Given the description of an element on the screen output the (x, y) to click on. 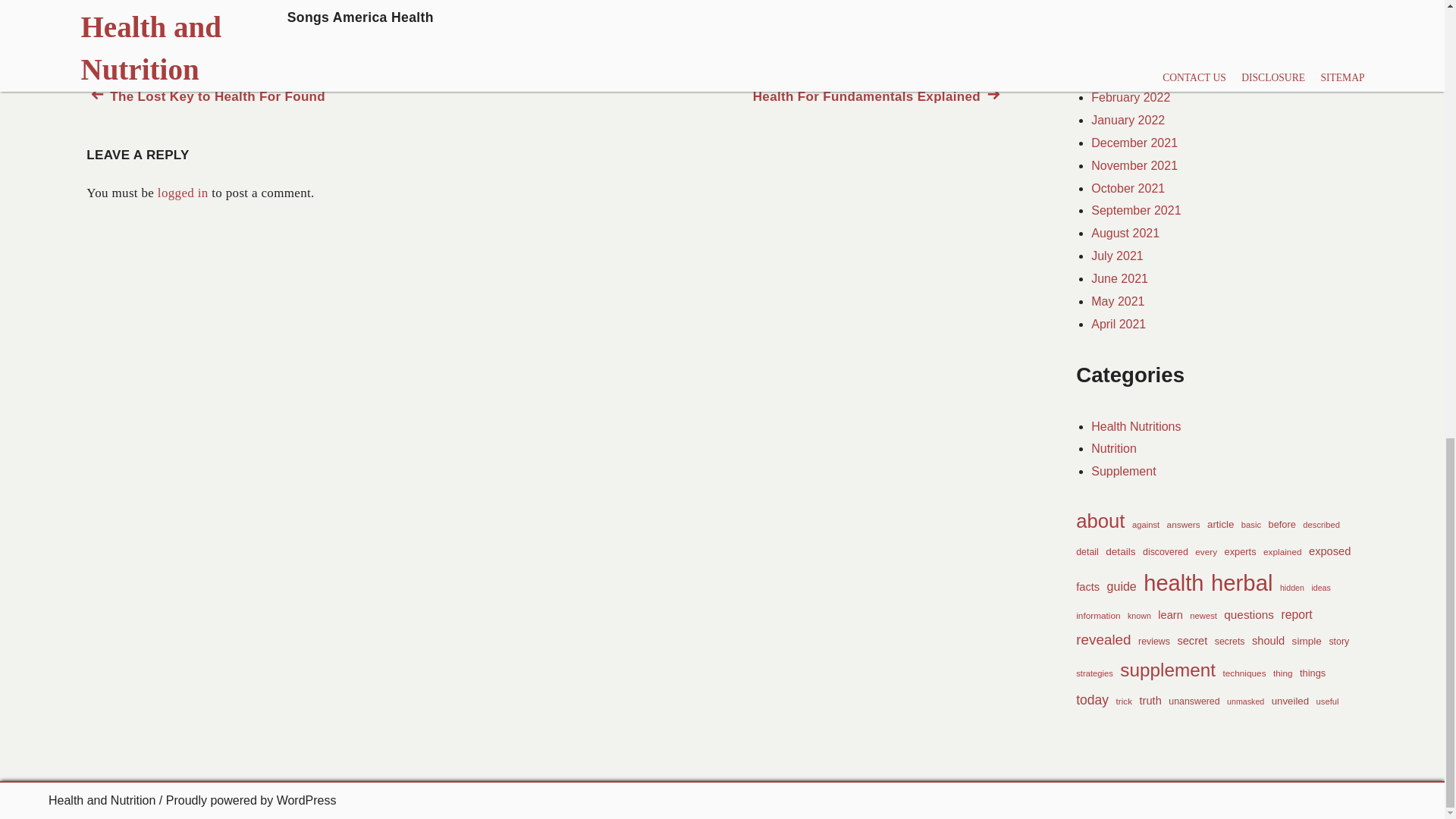
SECRET (251, 1)
logged in (182, 192)
Anastasya (260, 38)
SUPPLEMENT (328, 1)
HERBAL (878, 96)
EXPERT (183, 1)
